Given the description of an element on the screen output the (x, y) to click on. 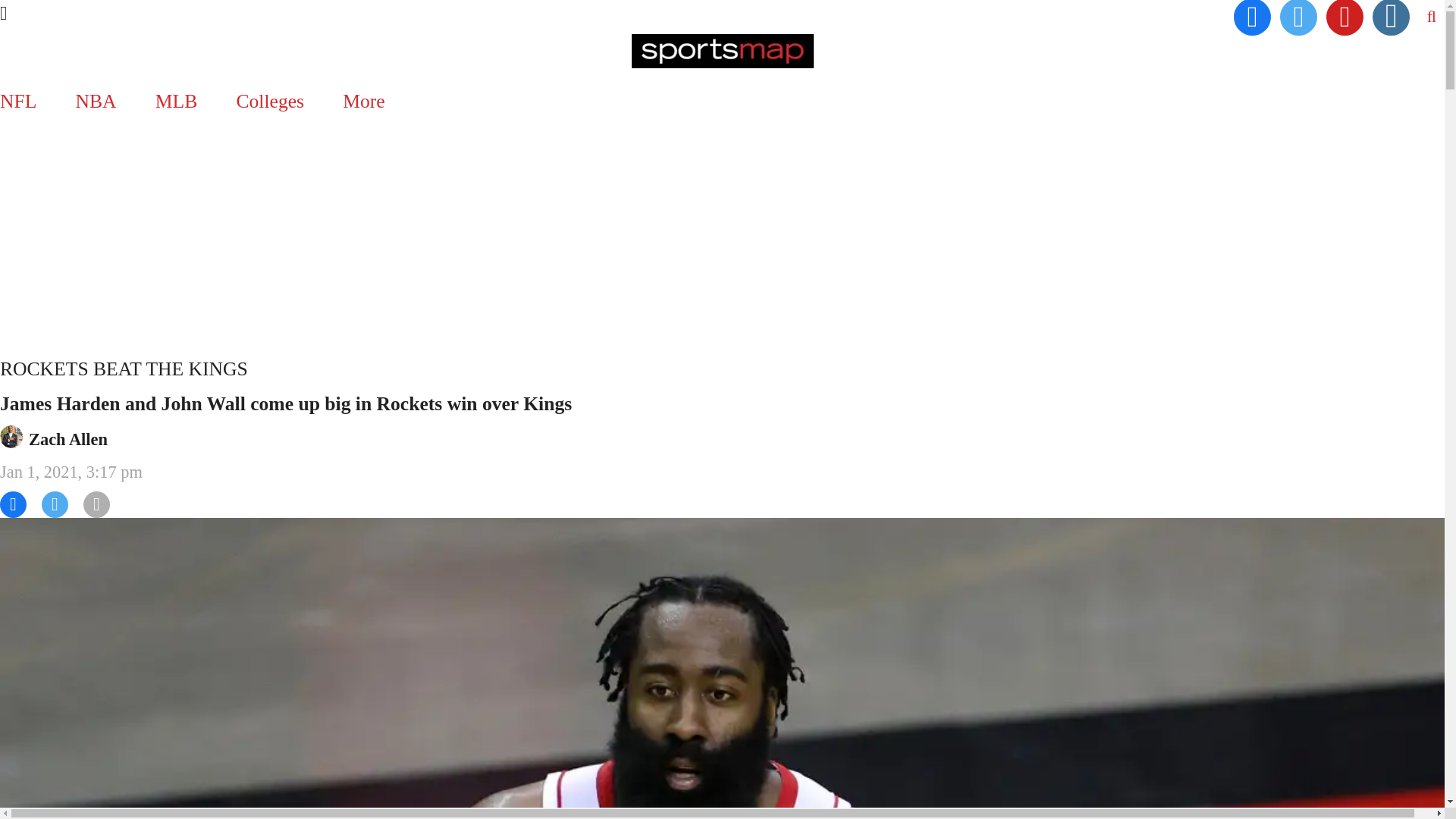
NBA (95, 100)
MLB (175, 100)
More (363, 100)
Colleges (269, 100)
Zach Allen (68, 438)
